Given the description of an element on the screen output the (x, y) to click on. 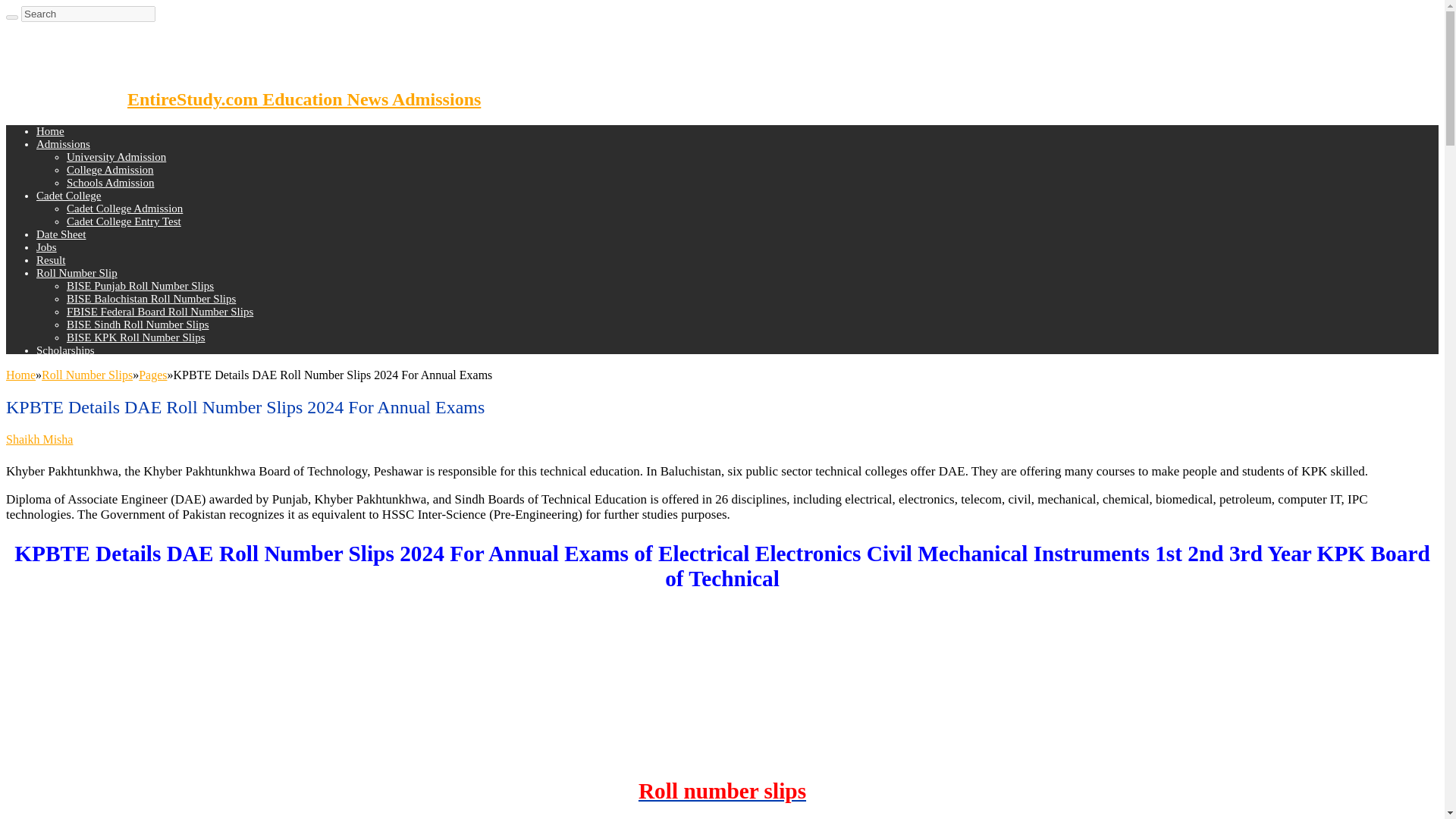
Home (50, 131)
Roll Number Slip (76, 272)
Cadet College Admission (124, 208)
EntireStudy.com Education News Admissions (242, 98)
College Admission (110, 169)
Admissions (63, 143)
Cadet College (68, 195)
Search (88, 13)
Pages (152, 374)
University Admission (115, 156)
